Given the description of an element on the screen output the (x, y) to click on. 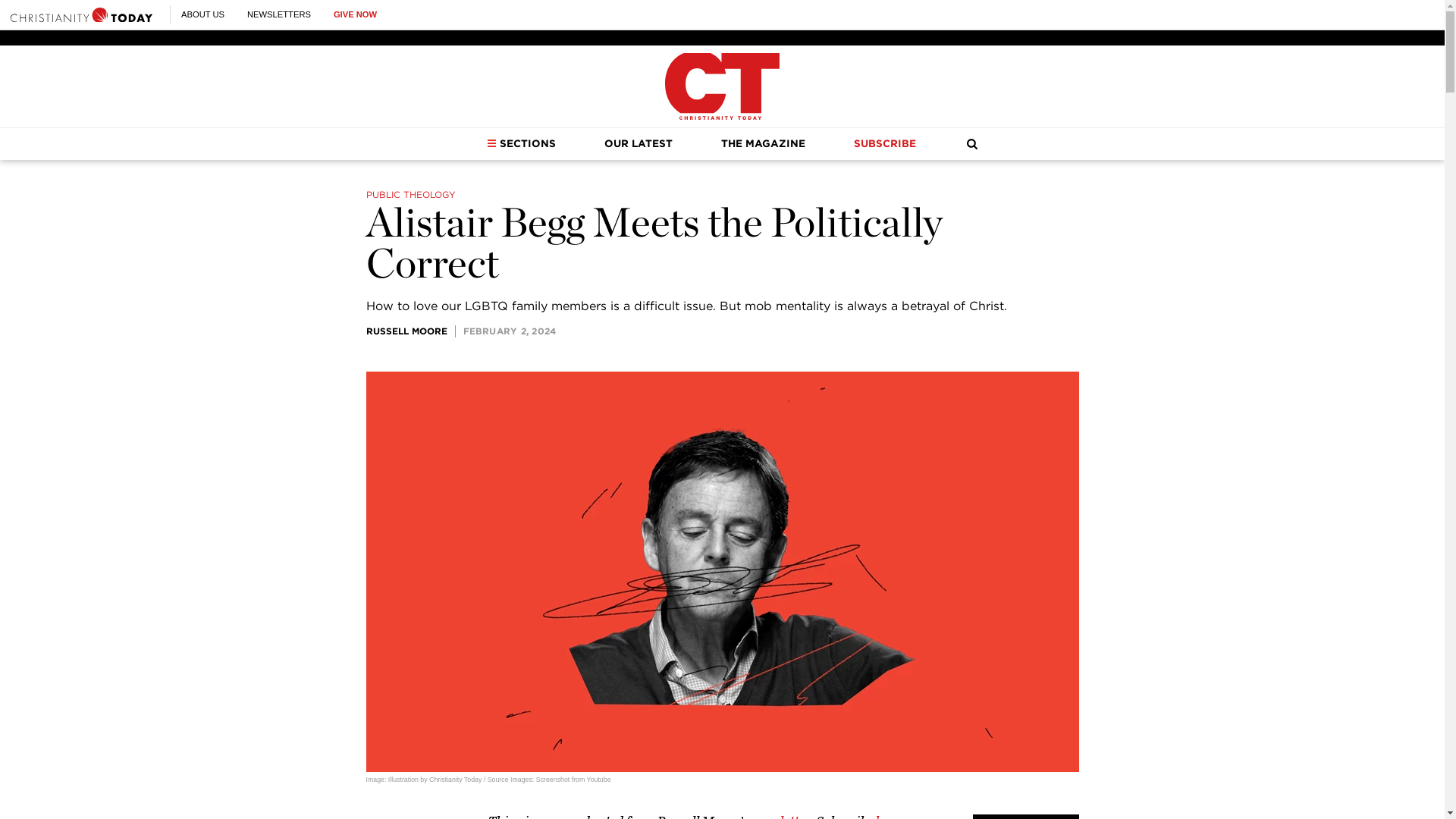
Christianity Today (81, 14)
GIVE NOW (355, 14)
ABOUT US (202, 14)
Christianity Today (721, 86)
SECTIONS (521, 143)
NEWSLETTERS (278, 14)
Sections Dropdown (491, 143)
